Given the description of an element on the screen output the (x, y) to click on. 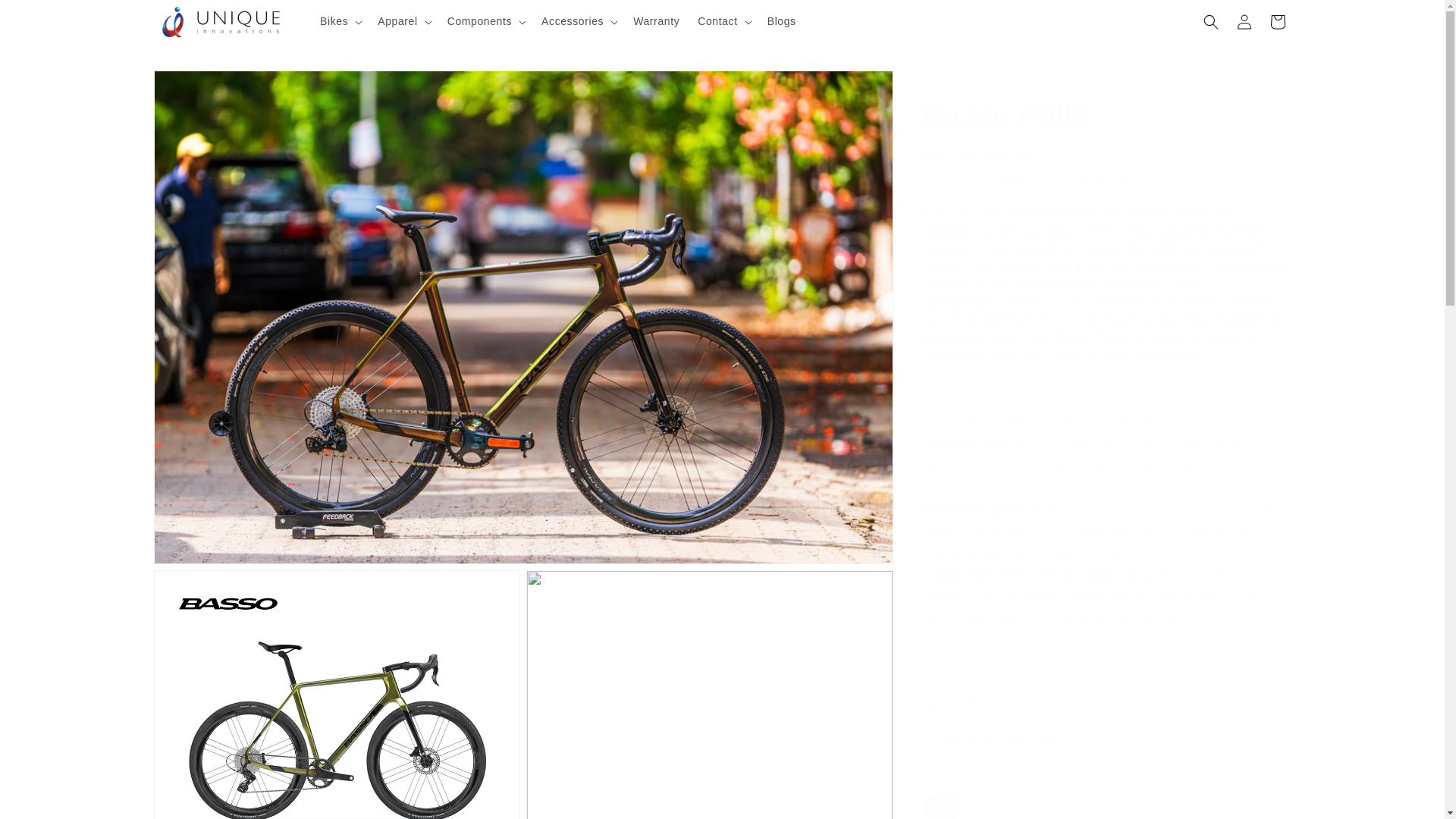
Open media 2 in modal (335, 694)
Skip to content (45, 17)
Open media 3 in modal (709, 694)
